Given the description of an element on the screen output the (x, y) to click on. 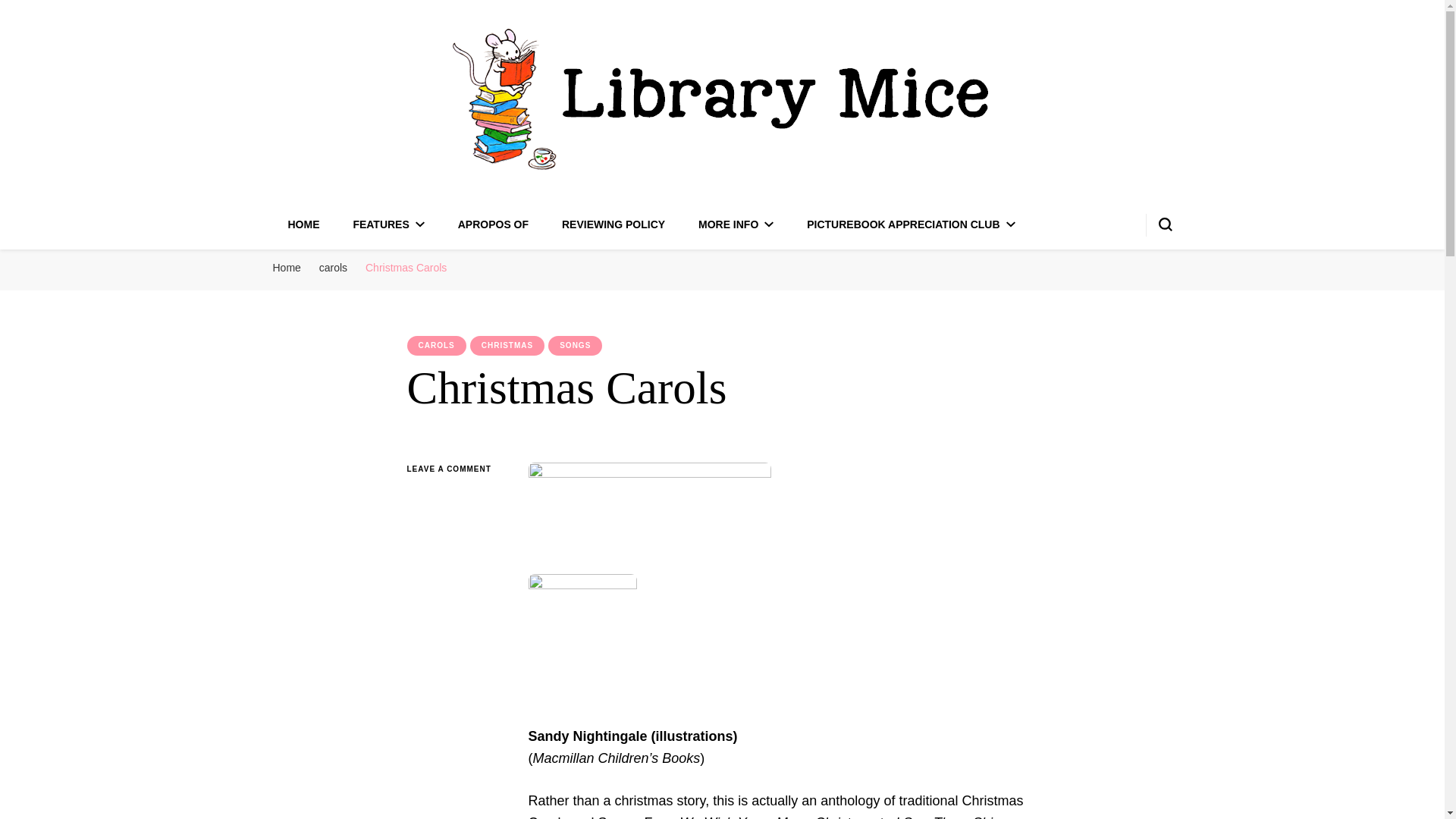
FEATURES (387, 224)
HOME (304, 224)
Library Mice (390, 205)
